Given the description of an element on the screen output the (x, y) to click on. 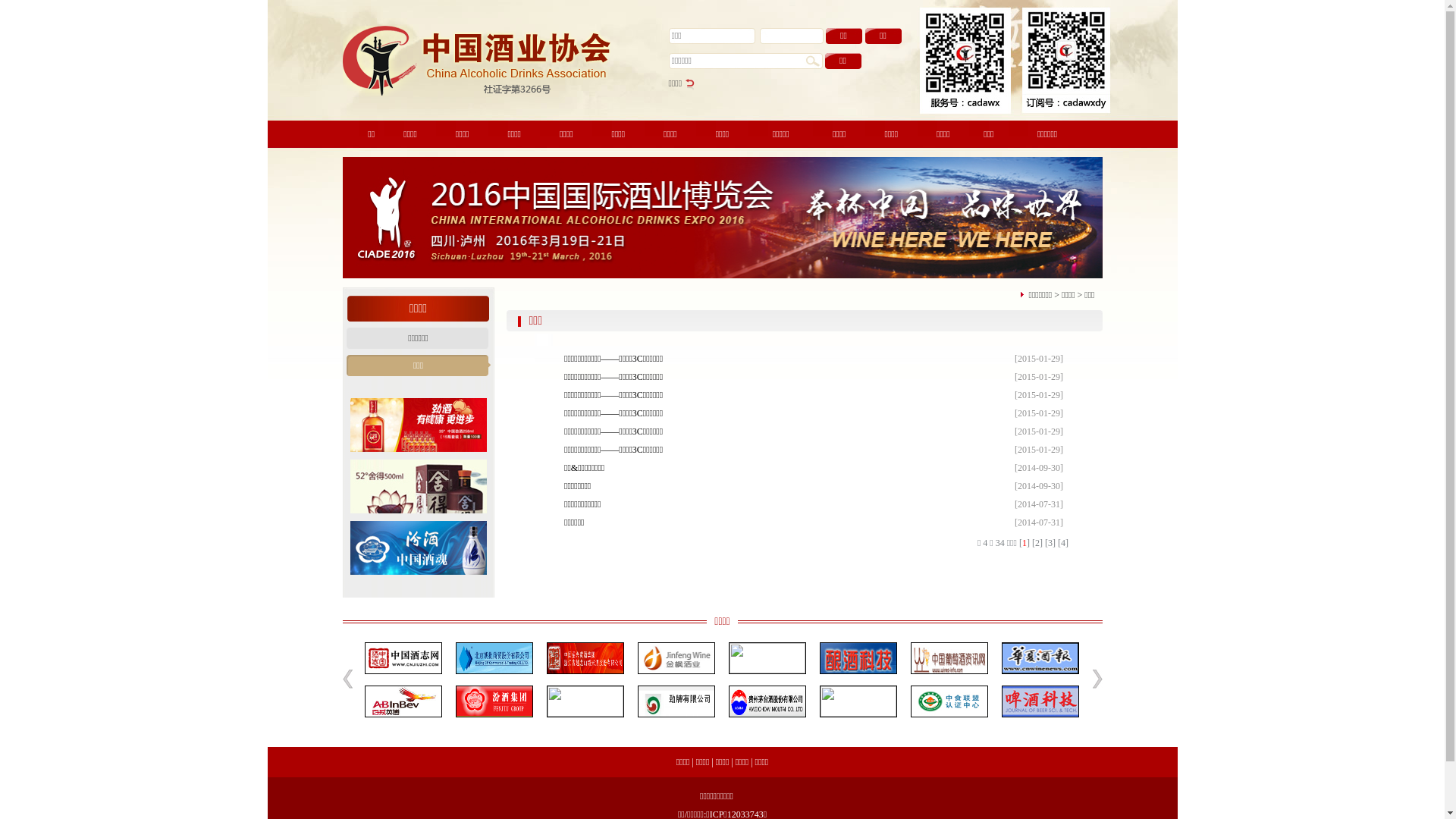
[2] Element type: text (1037, 542)
[3] Element type: text (1049, 542)
[4] Element type: text (1062, 542)
